Given the description of an element on the screen output the (x, y) to click on. 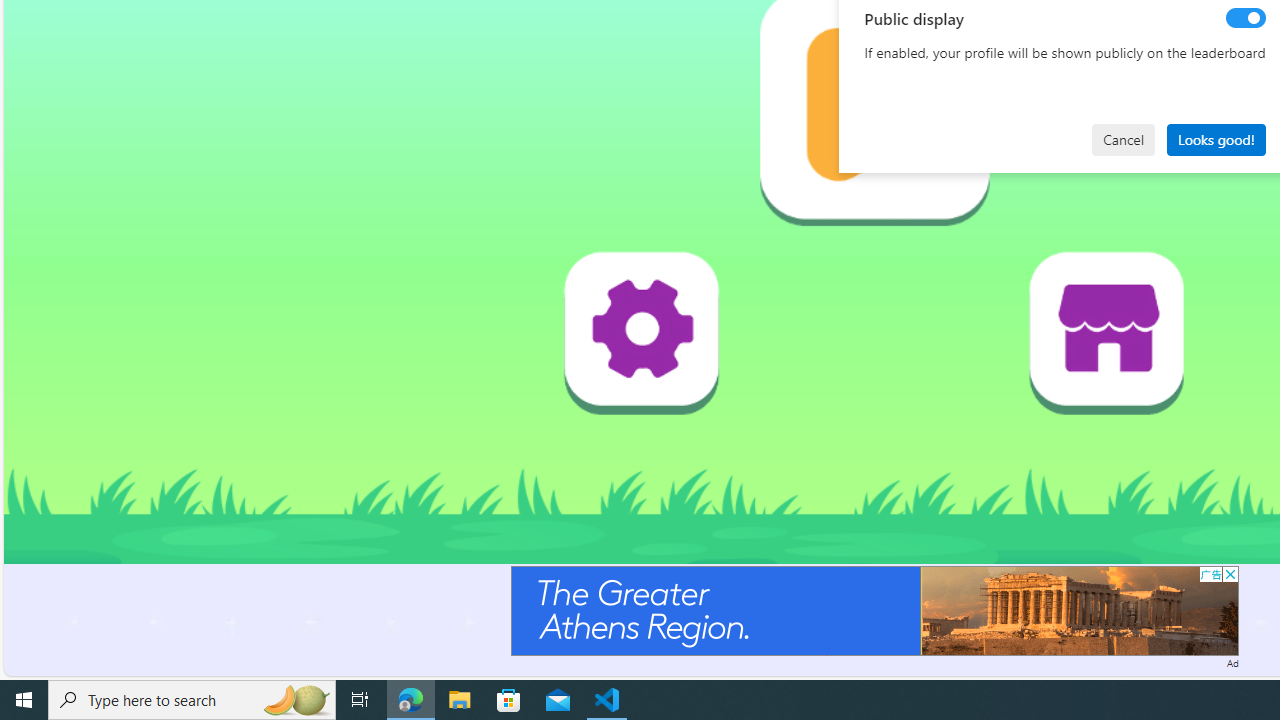
Advertisement (874, 610)
Looks good! (1216, 139)
AutomationID: cbb (1229, 574)
Cancel (1123, 139)
Advertisement (874, 610)
